Given the description of an element on the screen output the (x, y) to click on. 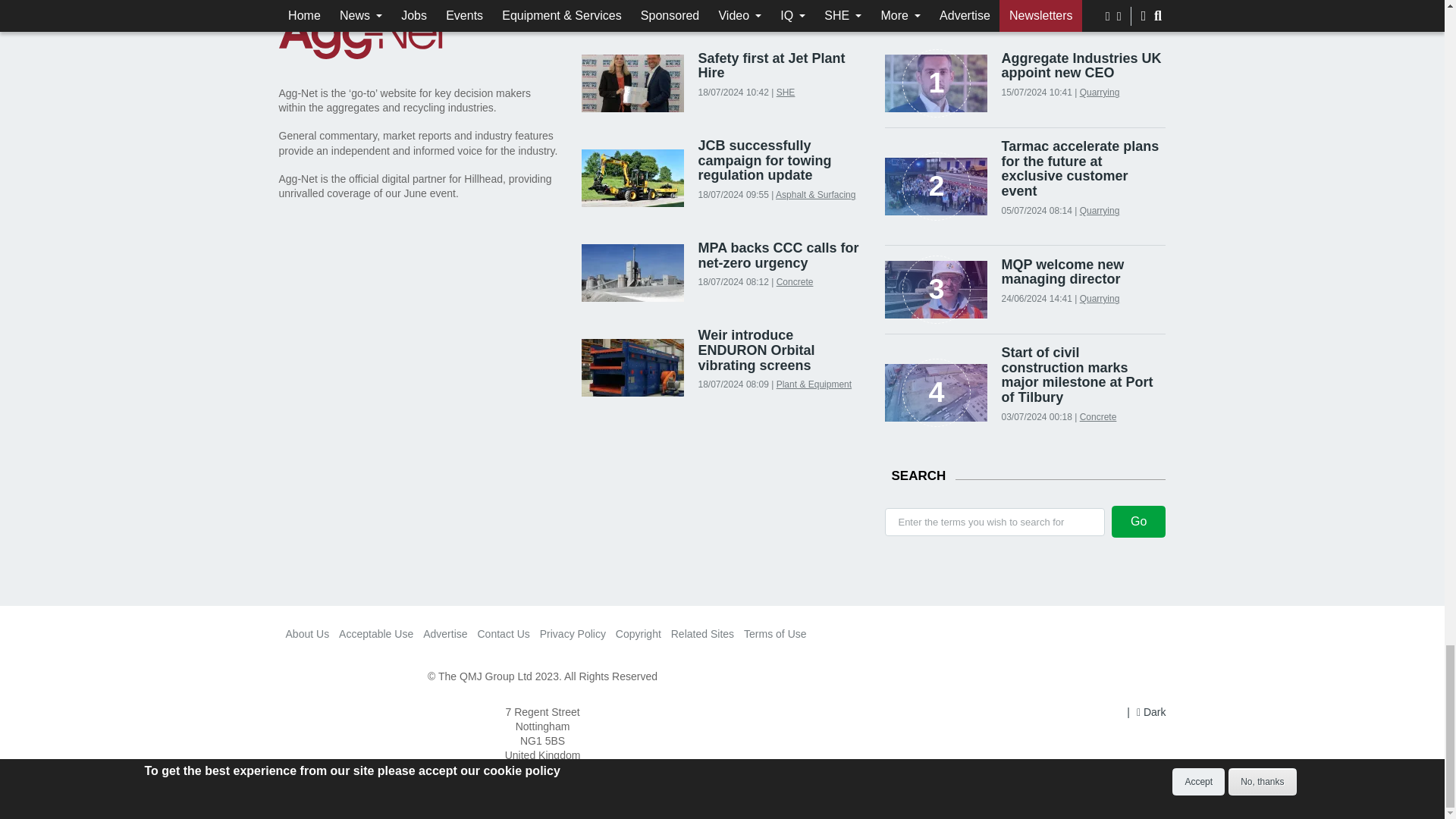
Go (1139, 521)
